Given the description of an element on the screen output the (x, y) to click on. 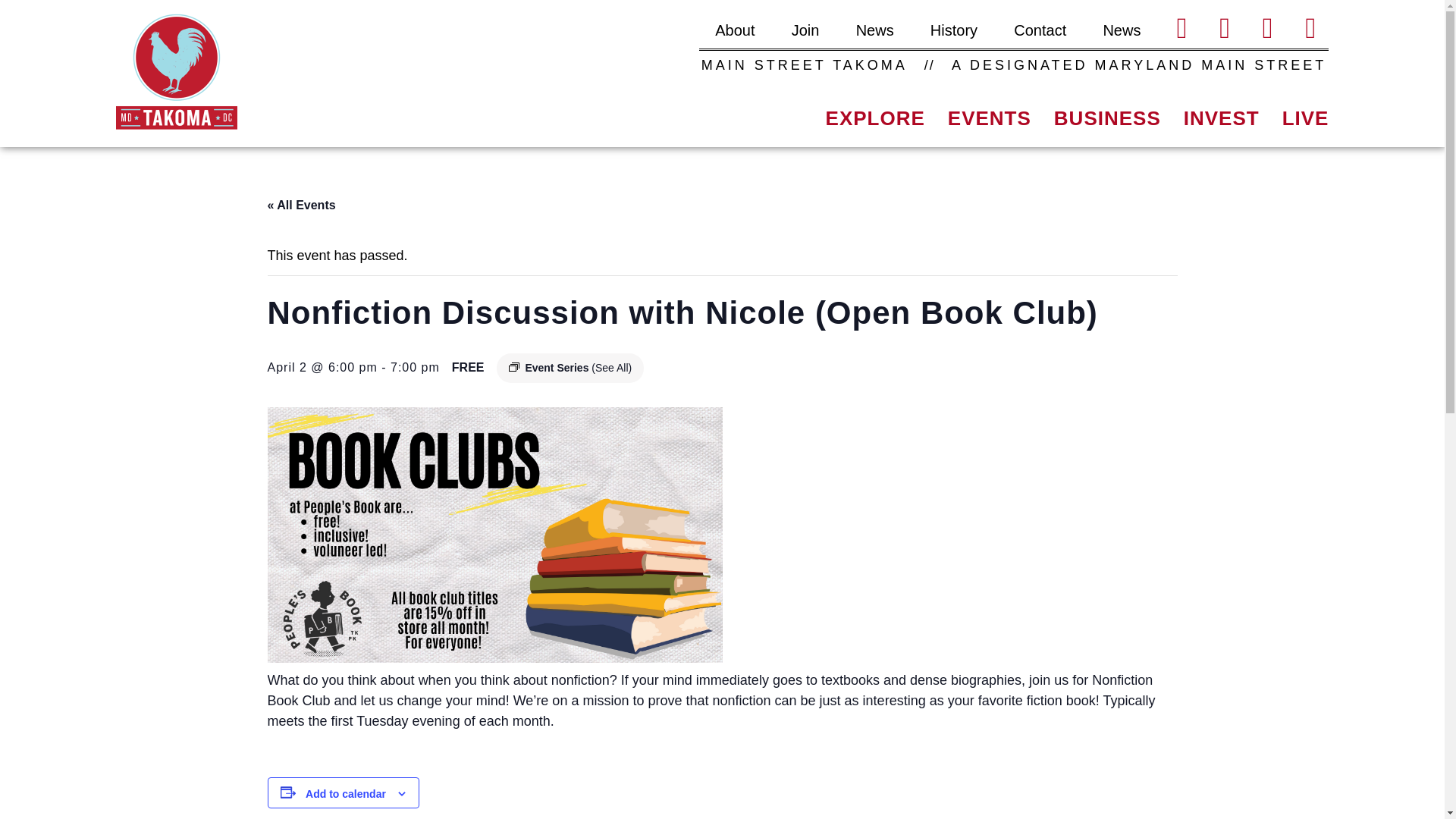
History (953, 30)
BUSINESS (1107, 126)
Contact (1039, 30)
Friend me on Facebook (1225, 27)
Follow me on Instagram (1309, 27)
About (734, 30)
Subscribe to me on YouTube (1267, 27)
EXPLORE (874, 126)
EVENTS (988, 126)
News (874, 30)
